Given the description of an element on the screen output the (x, y) to click on. 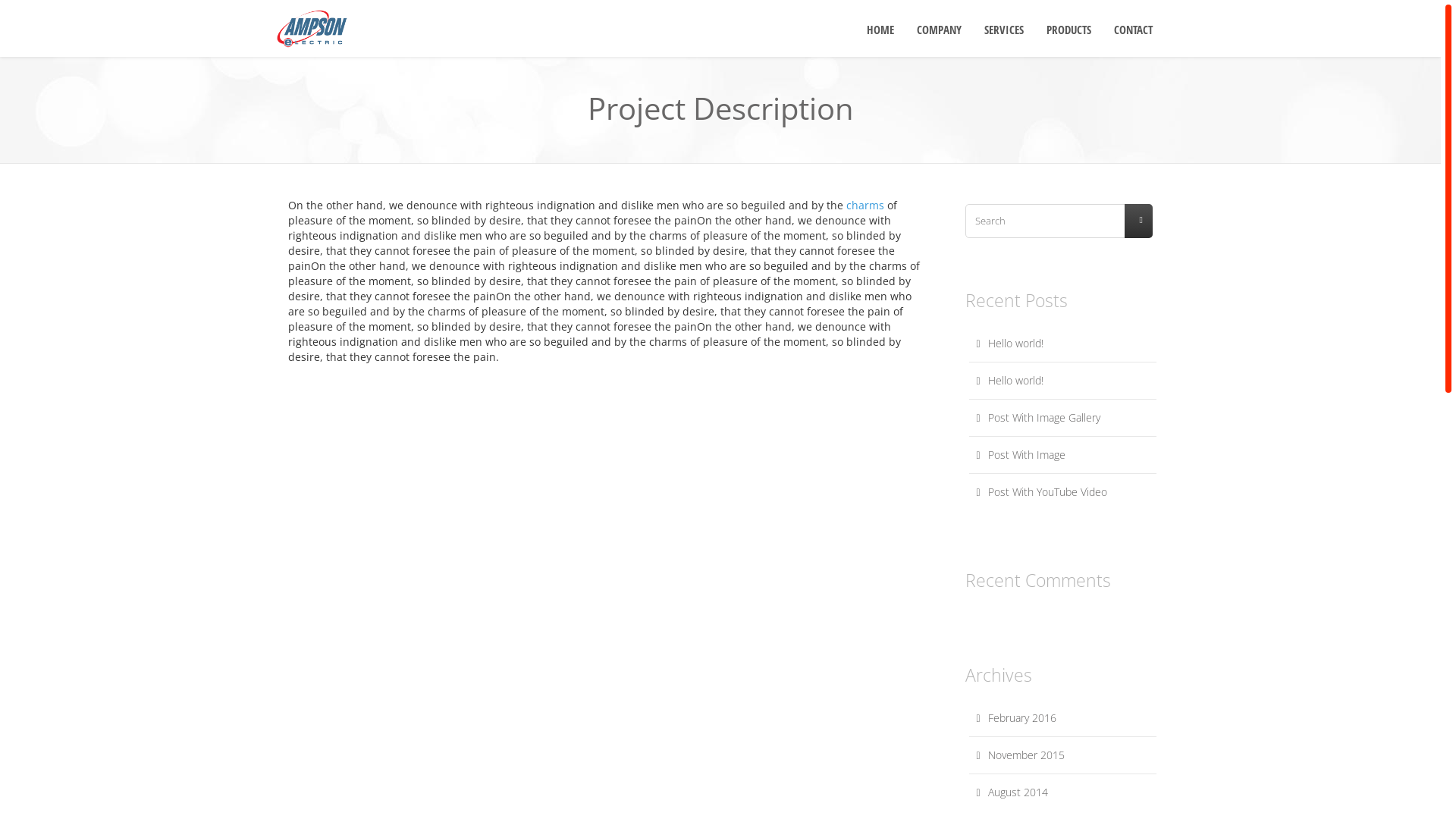
November 2015 Element type: text (1063, 755)
Hello world! Element type: text (1063, 380)
February 2016 Element type: text (1063, 717)
COMPANY Element type: text (938, 28)
Post With Image Element type: text (1063, 454)
Post With YouTube Video Element type: text (1063, 491)
August 2014 Element type: text (1063, 792)
SERVICES Element type: text (1003, 28)
CONTACT Element type: text (1133, 28)
Hello world! Element type: text (1063, 343)
PRODUCTS Element type: text (1068, 28)
Post With Image Gallery Element type: text (1063, 417)
HOME Element type: text (880, 28)
